Given the description of an element on the screen output the (x, y) to click on. 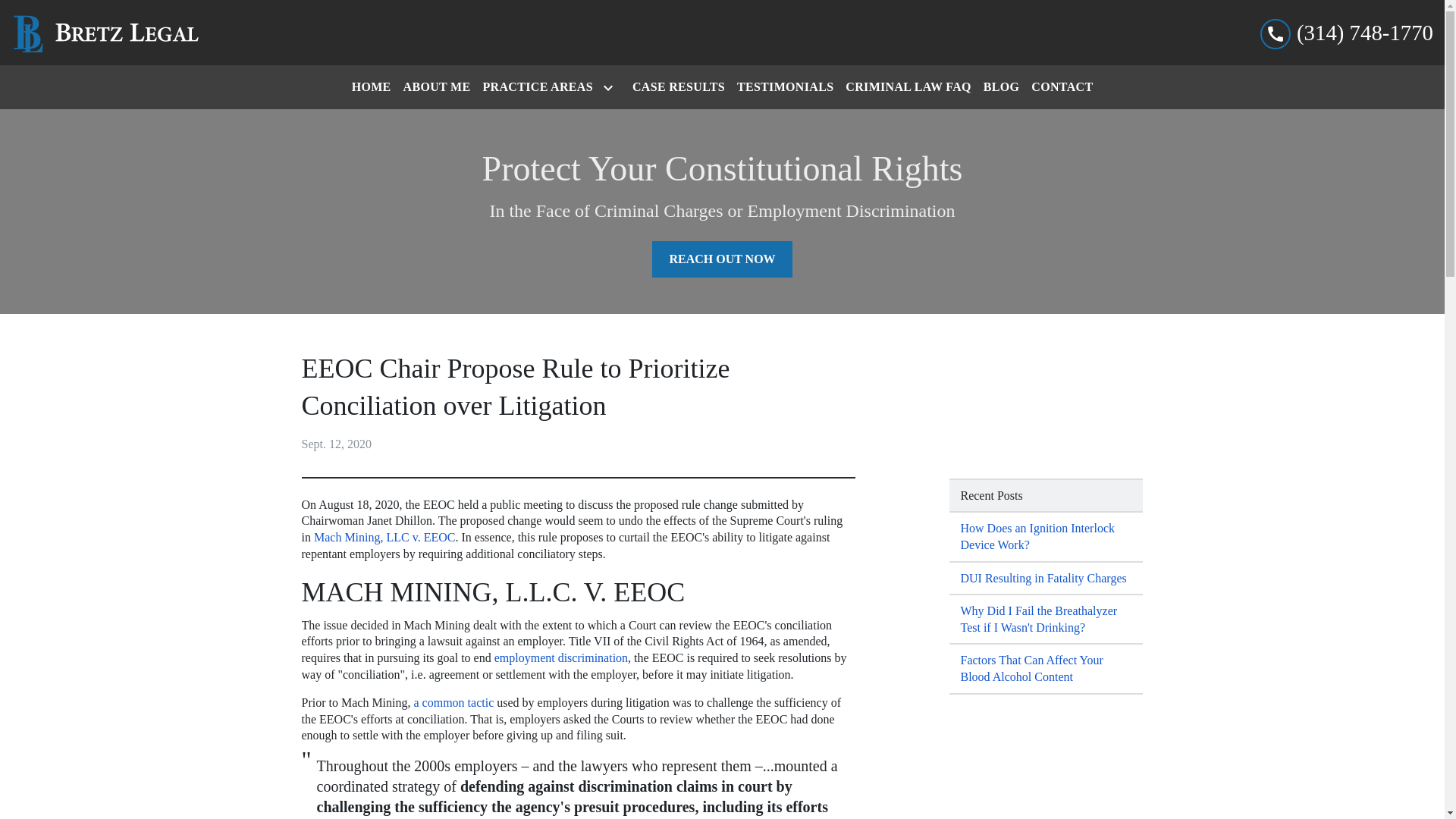
a common tactic (454, 702)
HOME (371, 86)
CRIMINAL LAW FAQ (908, 86)
Mach Mining, LLC v. EEOC (384, 536)
ABOUT ME (437, 86)
BLOG (1001, 86)
CONTACT (1062, 86)
How Does an Ignition Interlock Device Work? (1045, 536)
REACH OUT NOW (722, 258)
PRACTICE AREAS (534, 86)
CASE RESULTS (678, 86)
employment discrimination (561, 657)
TESTIMONIALS (785, 86)
